Given the description of an element on the screen output the (x, y) to click on. 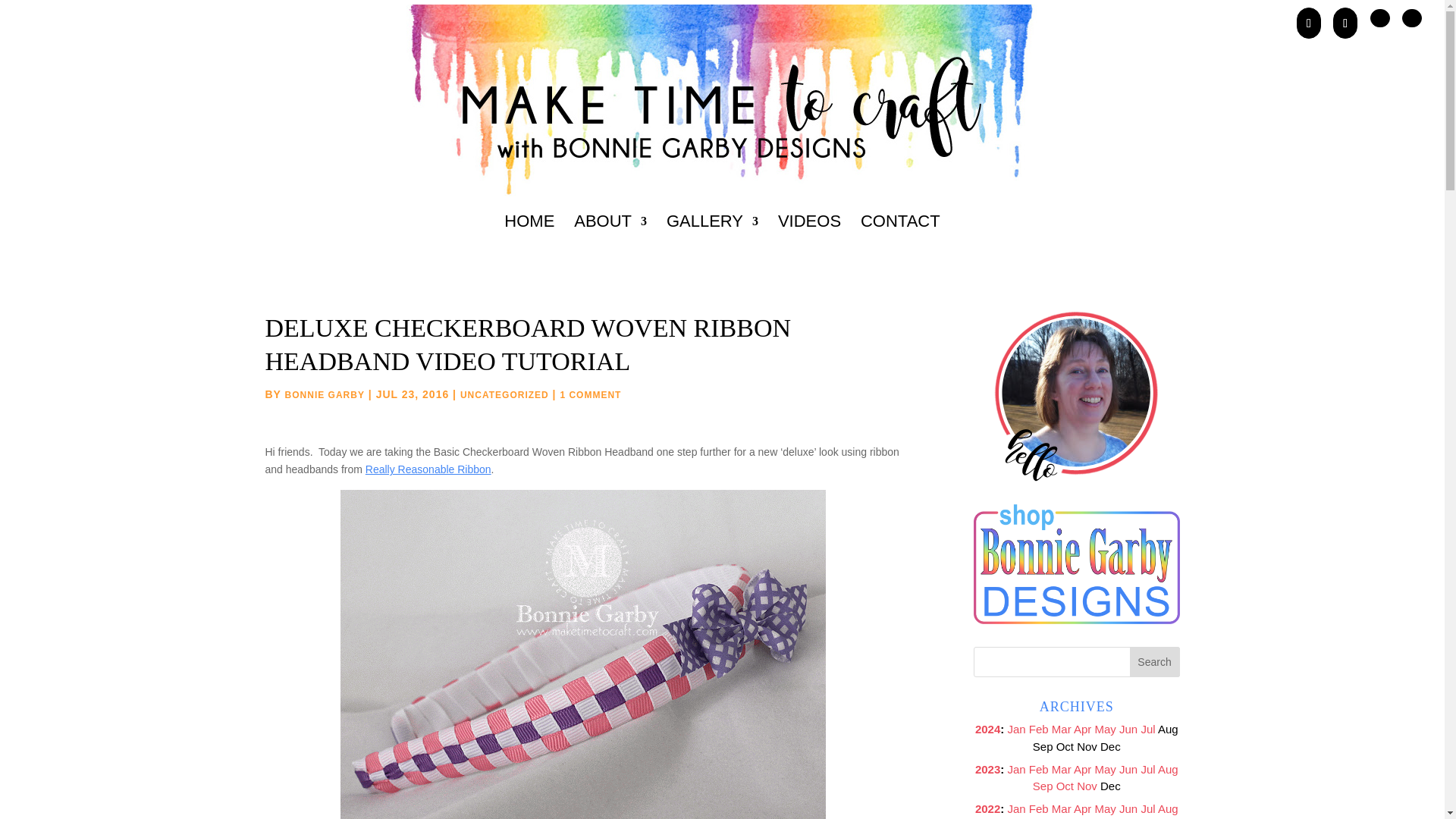
June 2001 (1128, 728)
January 2001 (1016, 728)
January 2001 (1016, 768)
1 COMMENT (590, 394)
April 2001 (1082, 728)
GALLERY (712, 240)
HOME (528, 240)
Search (1154, 662)
May 2001 (1105, 728)
CONTACT (900, 240)
VIDEOS (809, 240)
Really Reasonable Ribbon (428, 469)
UNCATEGORIZED (504, 394)
BONNIE GARBY (325, 394)
ABOUT (609, 240)
